Given the description of an element on the screen output the (x, y) to click on. 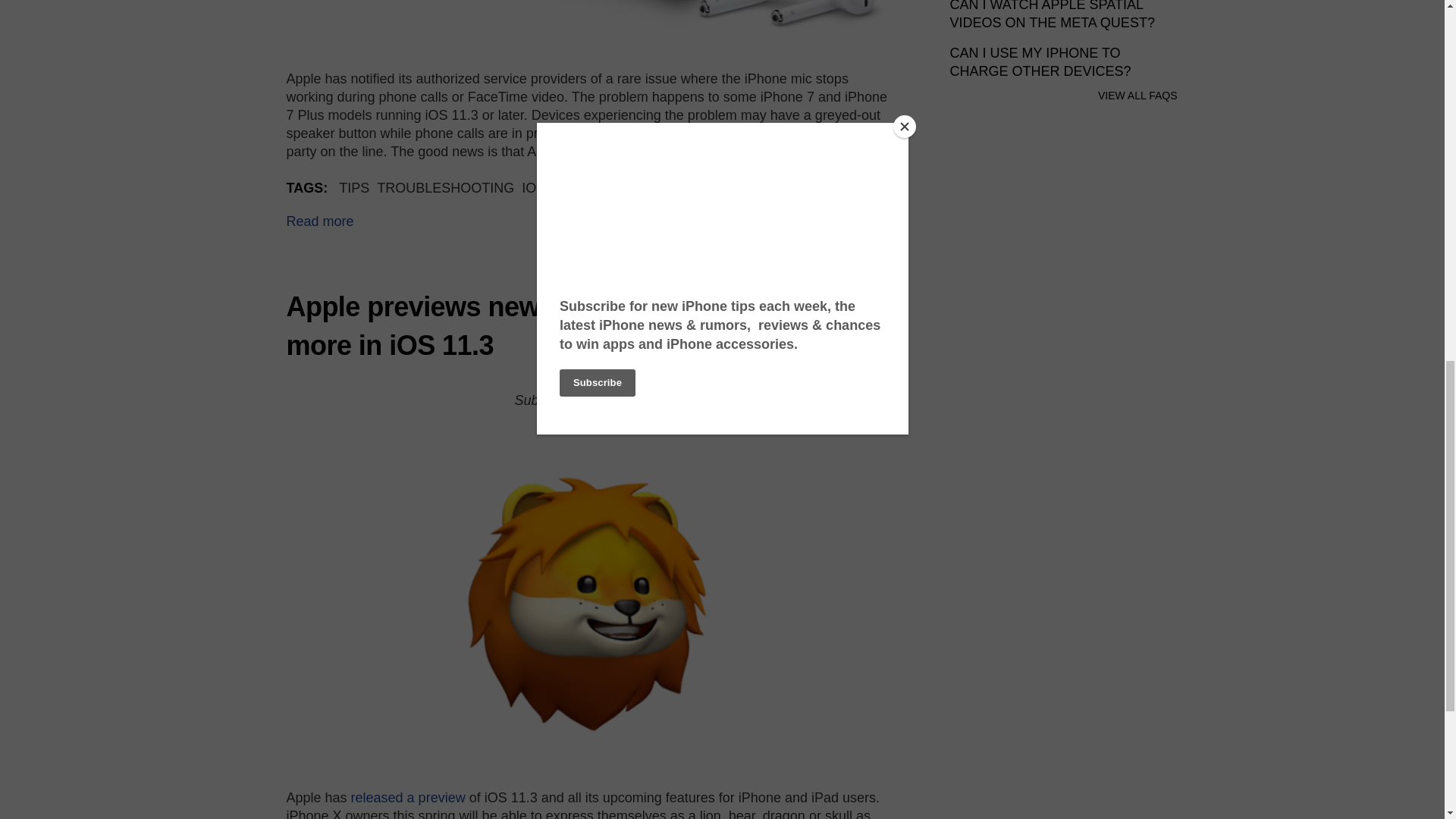
CAN I WATCH APPLE SPATIAL VIDEOS ON THE META QUEST? (1051, 15)
TROUBLESHOOTING (445, 187)
How to fix iPhone 7 microphone not working on iOS 11.3 (319, 221)
3rd party ad content (1062, 240)
Apple previews new Animoji, ARKit 1.5 and more in iOS 11.3 (557, 325)
MICROPHONE (630, 187)
CAN I USE MY IPHONE TO CHARGE OTHER DEVICES? (1040, 61)
TIPS (354, 187)
released a preview (407, 797)
VIEW ALL FAQS (1137, 95)
IOS 11.3 (548, 187)
IPHONE 7 (716, 187)
iPhone 7 AirPods (587, 23)
